Given the description of an element on the screen output the (x, y) to click on. 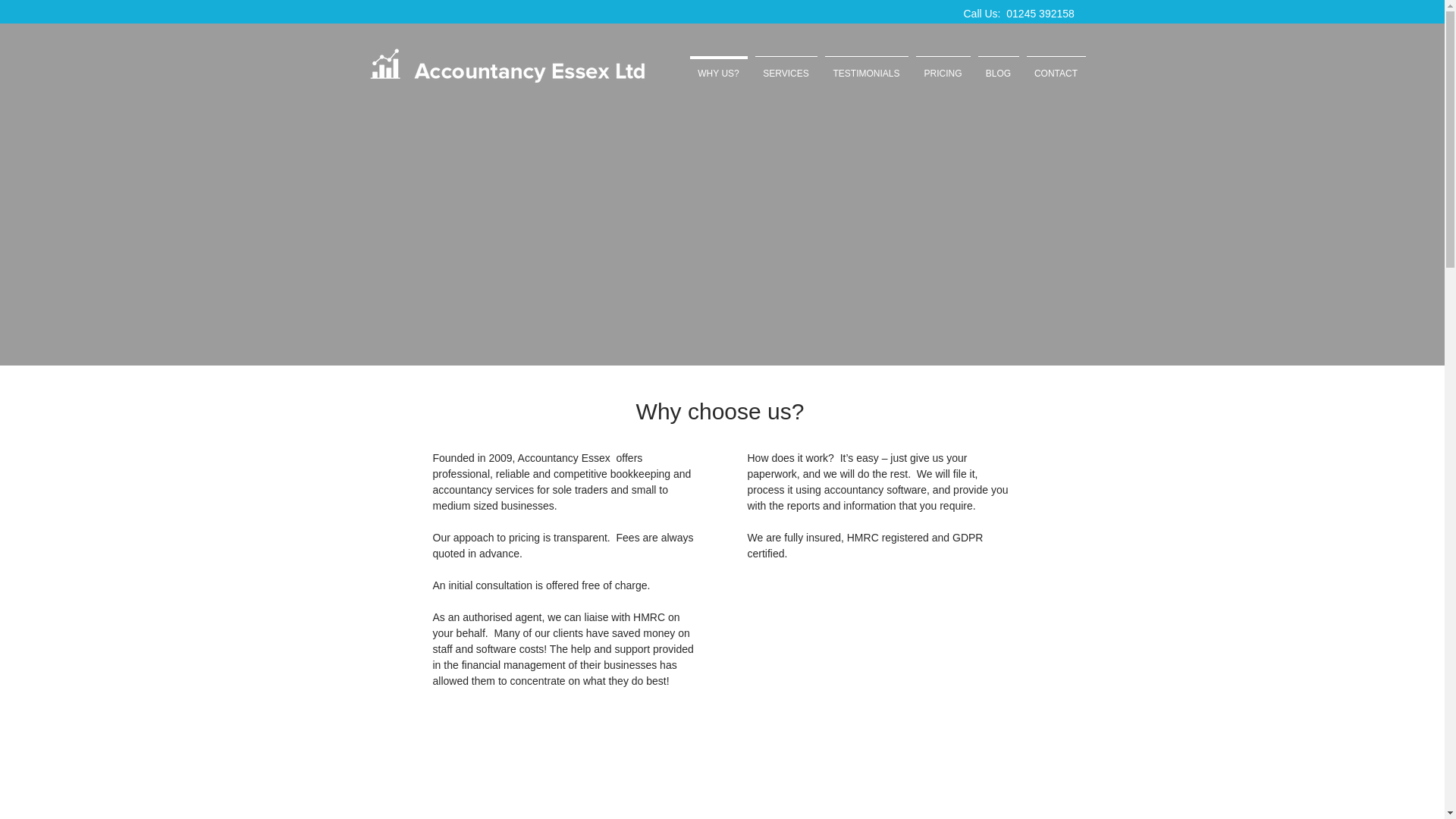
SERVICES (786, 66)
CONTACT (1055, 66)
PRICING (942, 66)
Accountant Essex (506, 65)
WHY US? (718, 66)
BLOG (998, 66)
TESTIMONIALS (866, 66)
